Given the description of an element on the screen output the (x, y) to click on. 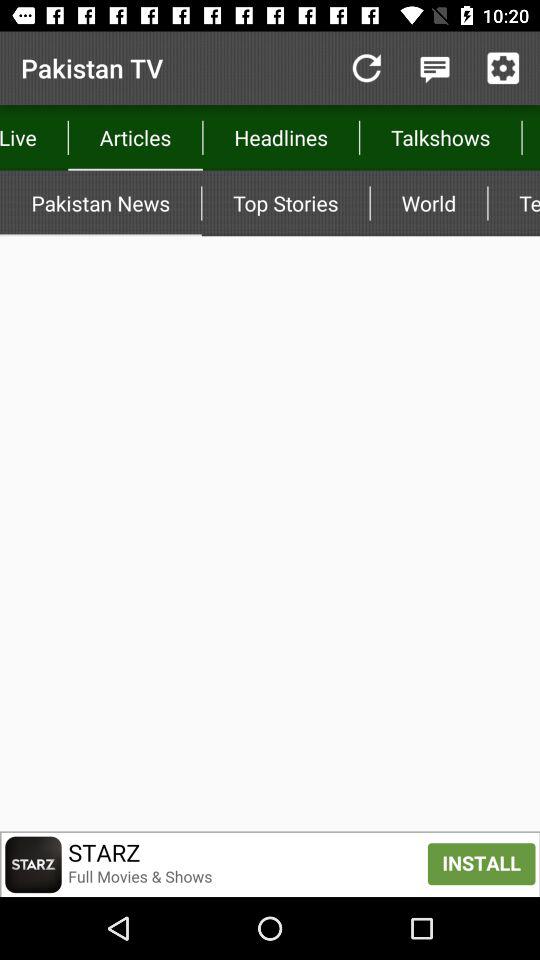
turn off the drama icon (530, 137)
